Given the description of an element on the screen output the (x, y) to click on. 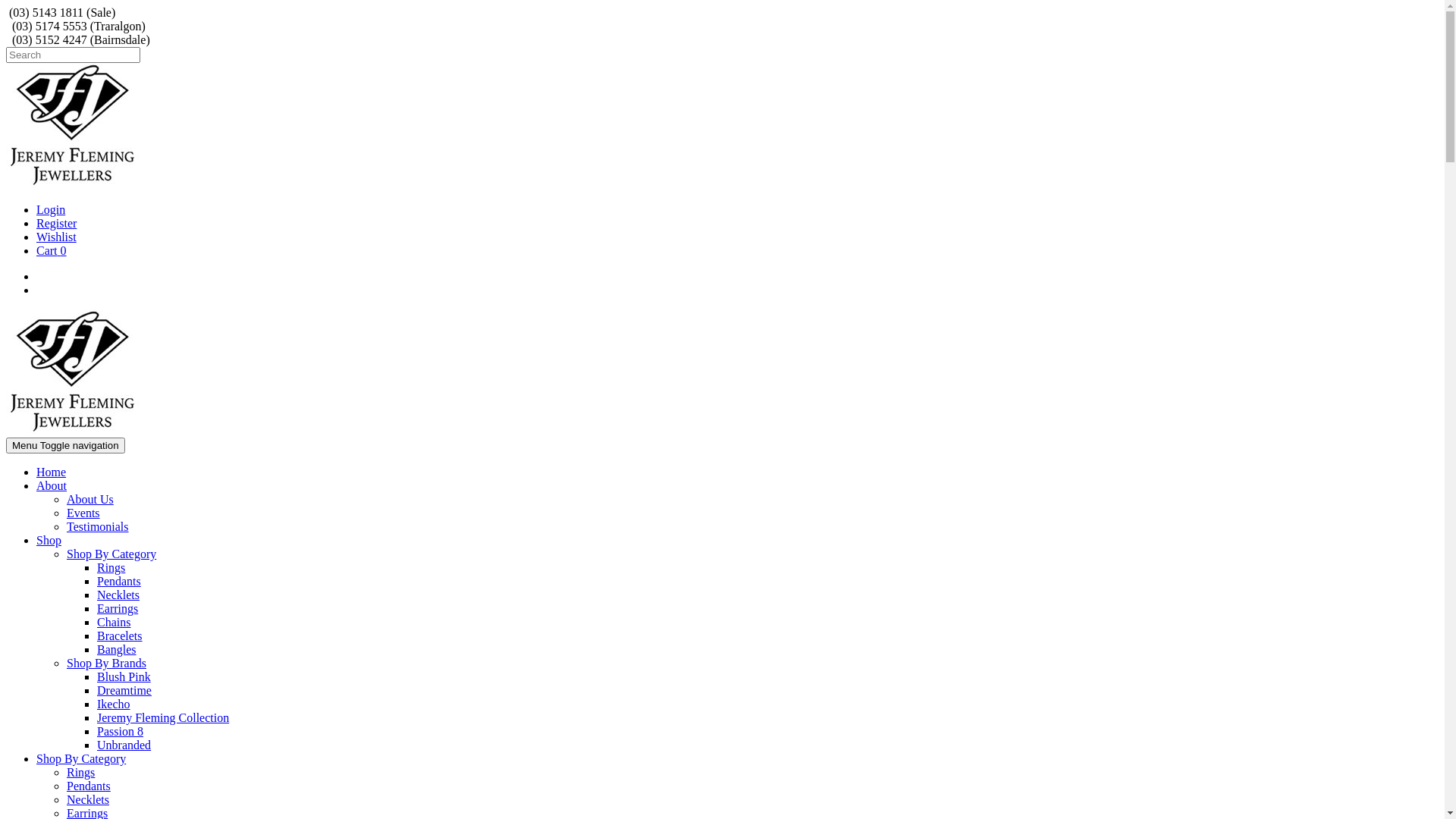
Ikecho Element type: text (113, 703)
Pendants Element type: text (119, 580)
Shop Element type: text (48, 539)
Rings Element type: text (80, 771)
Unbranded Element type: text (123, 744)
Dreamtime Element type: text (124, 690)
Shop By Category Element type: text (80, 758)
Rings Element type: text (111, 567)
Necklets Element type: text (118, 594)
About Element type: text (51, 485)
Menu Toggle navigation Element type: text (65, 445)
Bracelets Element type: text (119, 635)
Home Element type: text (50, 471)
Passion 8 Element type: text (120, 730)
Earrings Element type: text (117, 608)
Shop By Brands Element type: text (106, 662)
Jeremy Fleming Jewellers In Sale & Traralgon, VIC  Element type: hover (72, 183)
About Us Element type: text (89, 498)
Login Element type: text (50, 209)
Jeremy Fleming Jewellers In Sale & Traralgon, VIC  Element type: hover (72, 429)
Shop By Category Element type: text (111, 553)
Pendants Element type: text (88, 785)
Cart 0 Element type: text (51, 250)
Chains Element type: text (113, 621)
Wishlist Element type: text (56, 236)
Events Element type: text (83, 512)
Testimonials Element type: text (97, 526)
Blush Pink Element type: text (123, 676)
Register Element type: text (56, 222)
Necklets Element type: text (87, 799)
Jeremy Fleming Collection Element type: text (163, 717)
Bangles Element type: text (116, 649)
